Given the description of an element on the screen output the (x, y) to click on. 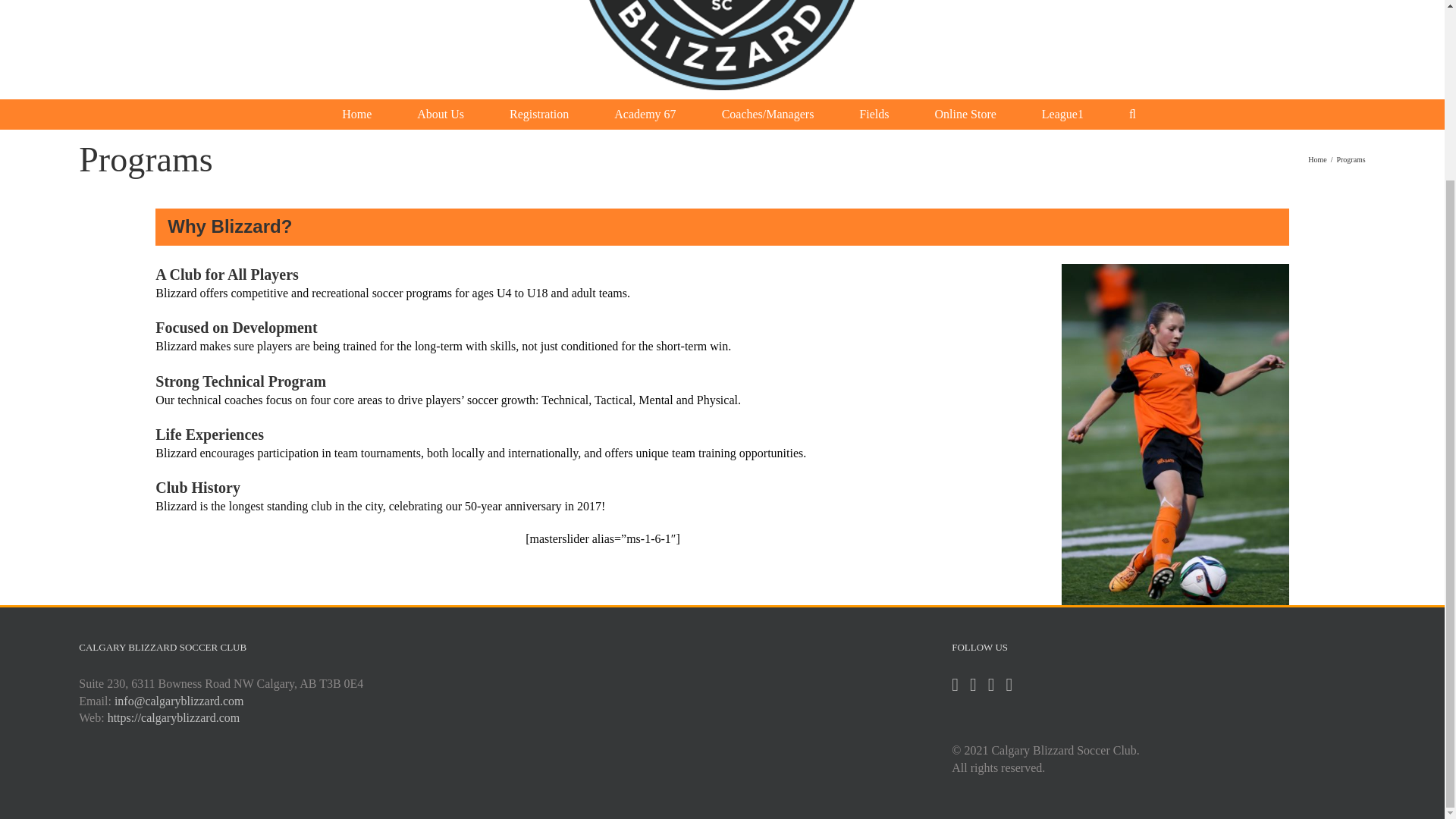
Academy 67 (644, 114)
Search (1132, 114)
About Us (440, 114)
Registration (538, 114)
Home (356, 114)
